Given the description of an element on the screen output the (x, y) to click on. 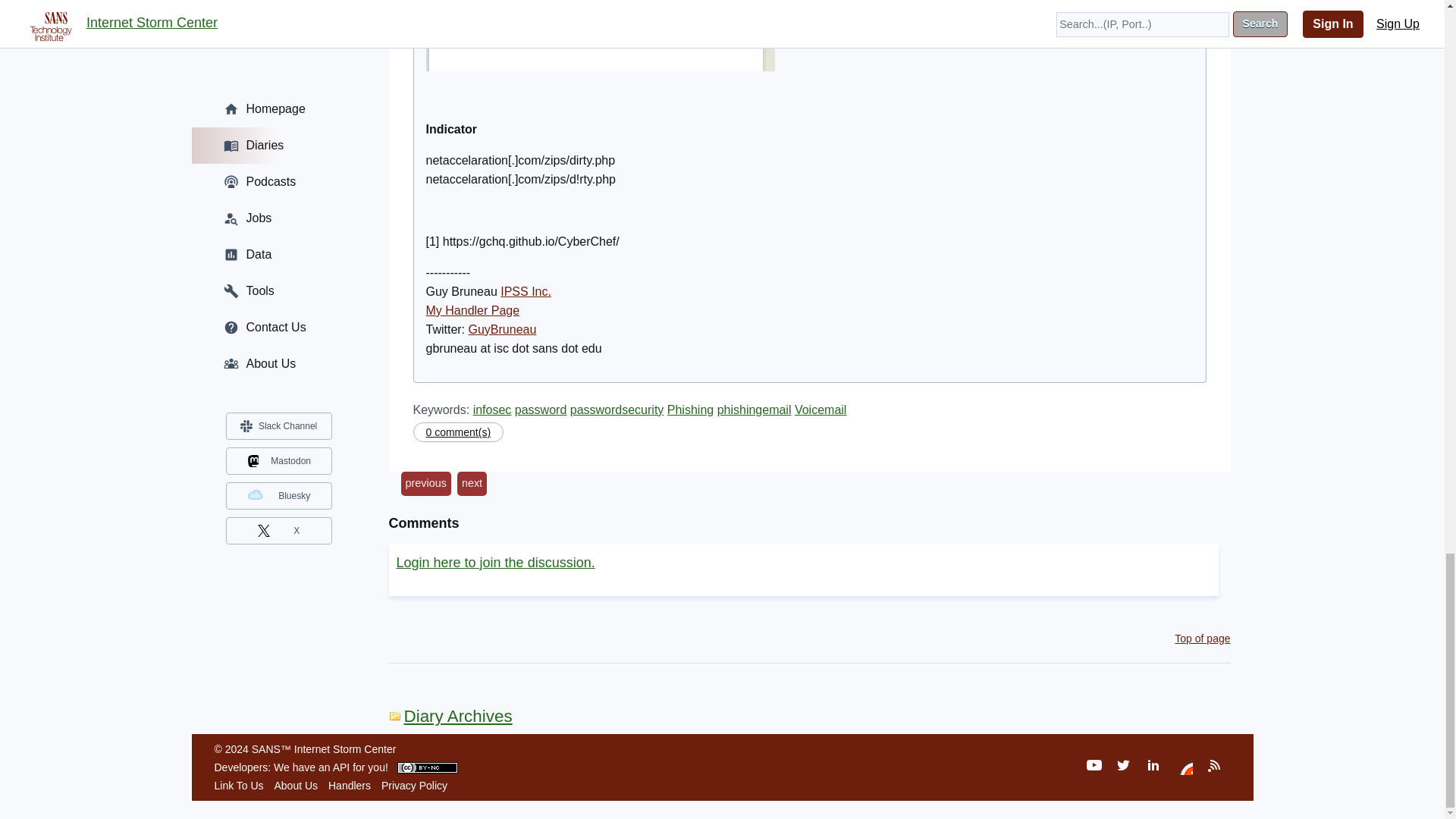
next (471, 483)
Phishing (689, 409)
IPSS Inc. (525, 291)
My Handler Page (472, 309)
passwordsecurity (616, 409)
phishingemail (754, 409)
previous (424, 483)
password (540, 409)
Top of page (1202, 638)
Voicemail (819, 409)
